Given the description of an element on the screen output the (x, y) to click on. 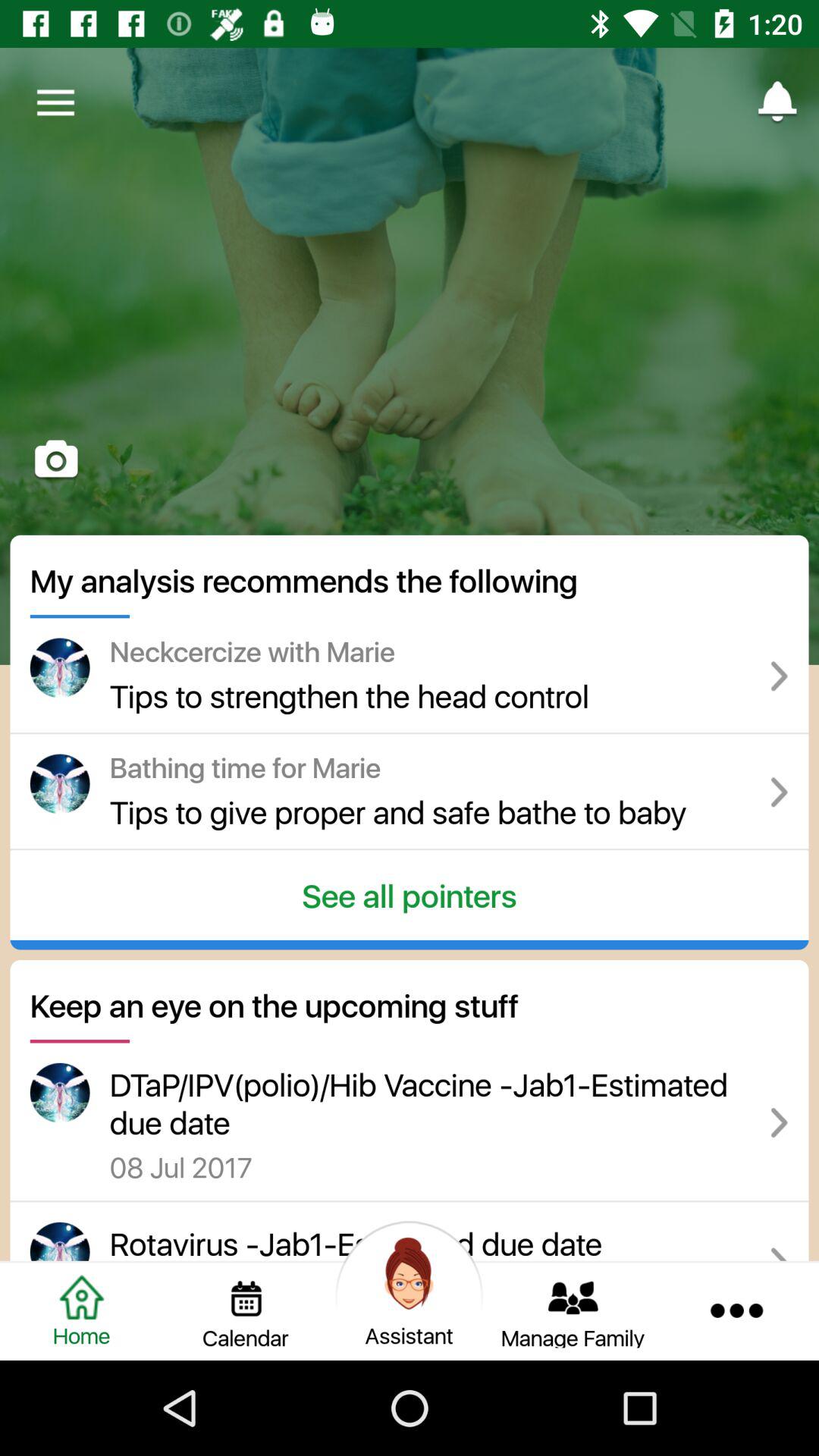
select the  symbol (779, 676)
click on assistant button (409, 1273)
click on the image on the left down above home second line (60, 1092)
